Given the description of an element on the screen output the (x, y) to click on. 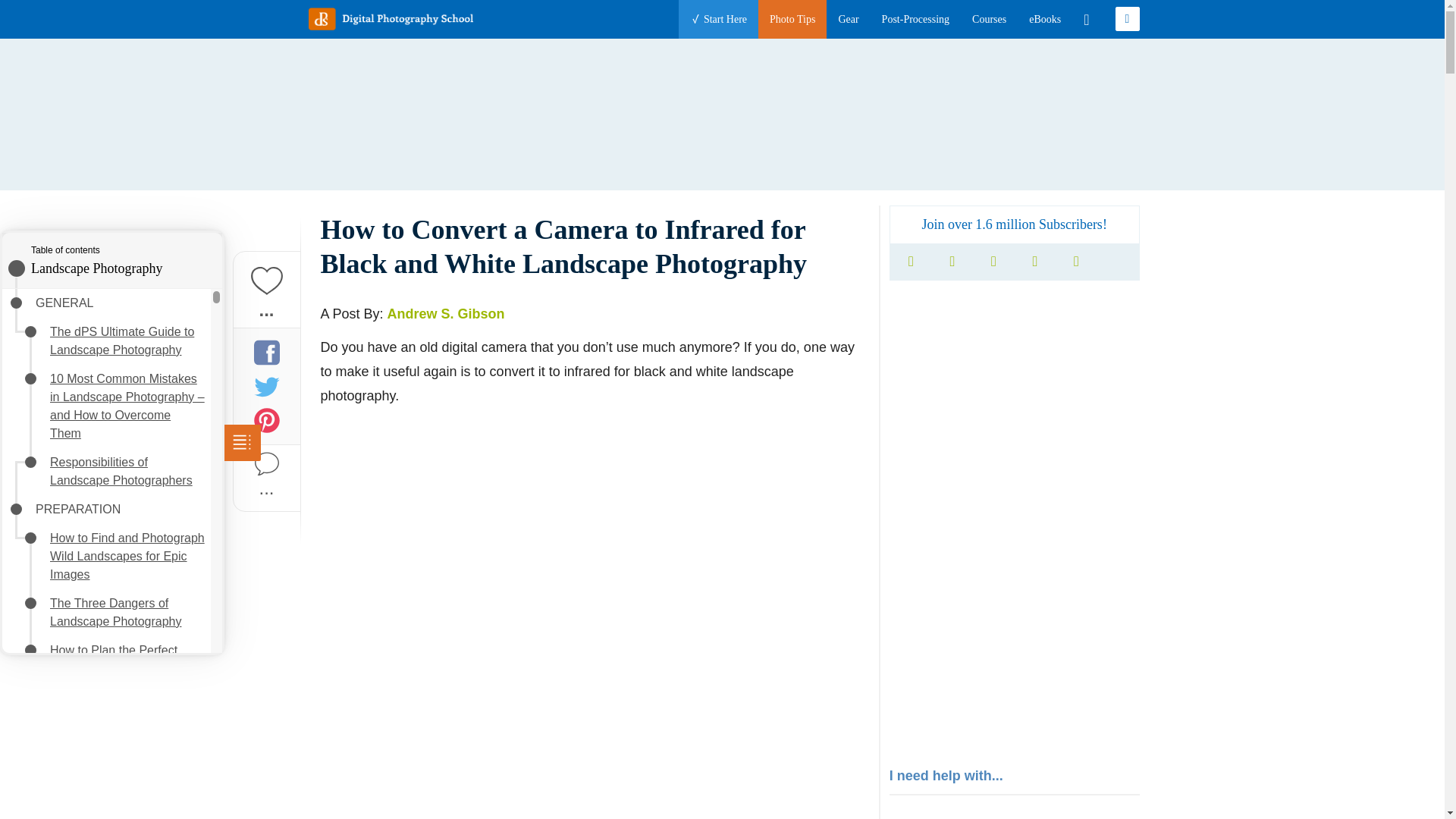
Click to share on Facebook (266, 352)
Photo Tips (791, 19)
Click to share on Twitter (266, 385)
Digital Photography School (390, 18)
Post-Processing (915, 19)
Gear (847, 19)
Click to share on Pinterest (266, 420)
